Given the description of an element on the screen output the (x, y) to click on. 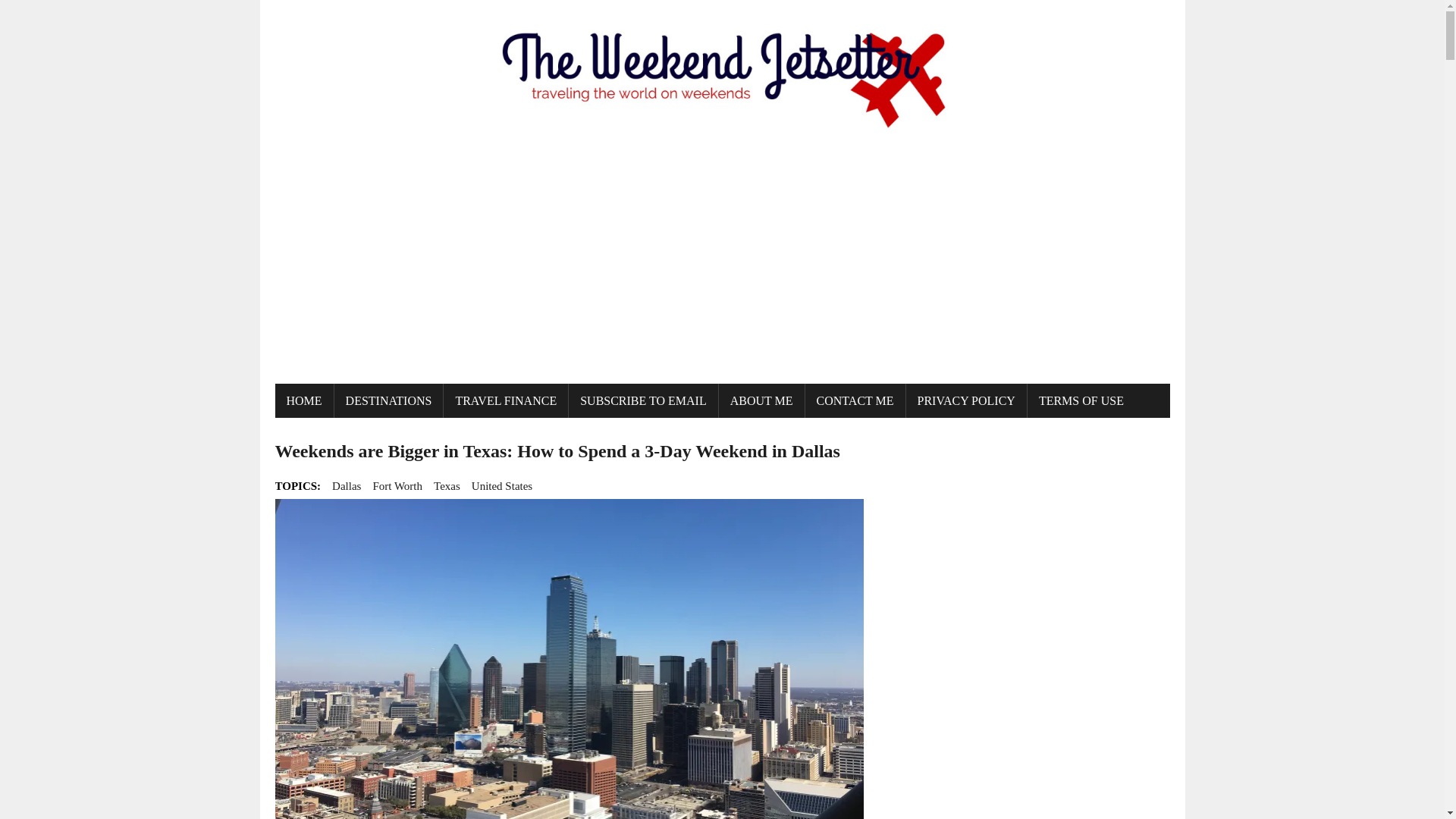
Dallas (346, 485)
DESTINATIONS (389, 401)
TRAVEL FINANCE (505, 401)
United States (501, 485)
TERMS OF USE (1081, 401)
CONTACT ME (855, 401)
The Weekend Jetsetter (722, 74)
Texas (446, 485)
SUBSCRIBE TO EMAIL (643, 401)
